Given the description of an element on the screen output the (x, y) to click on. 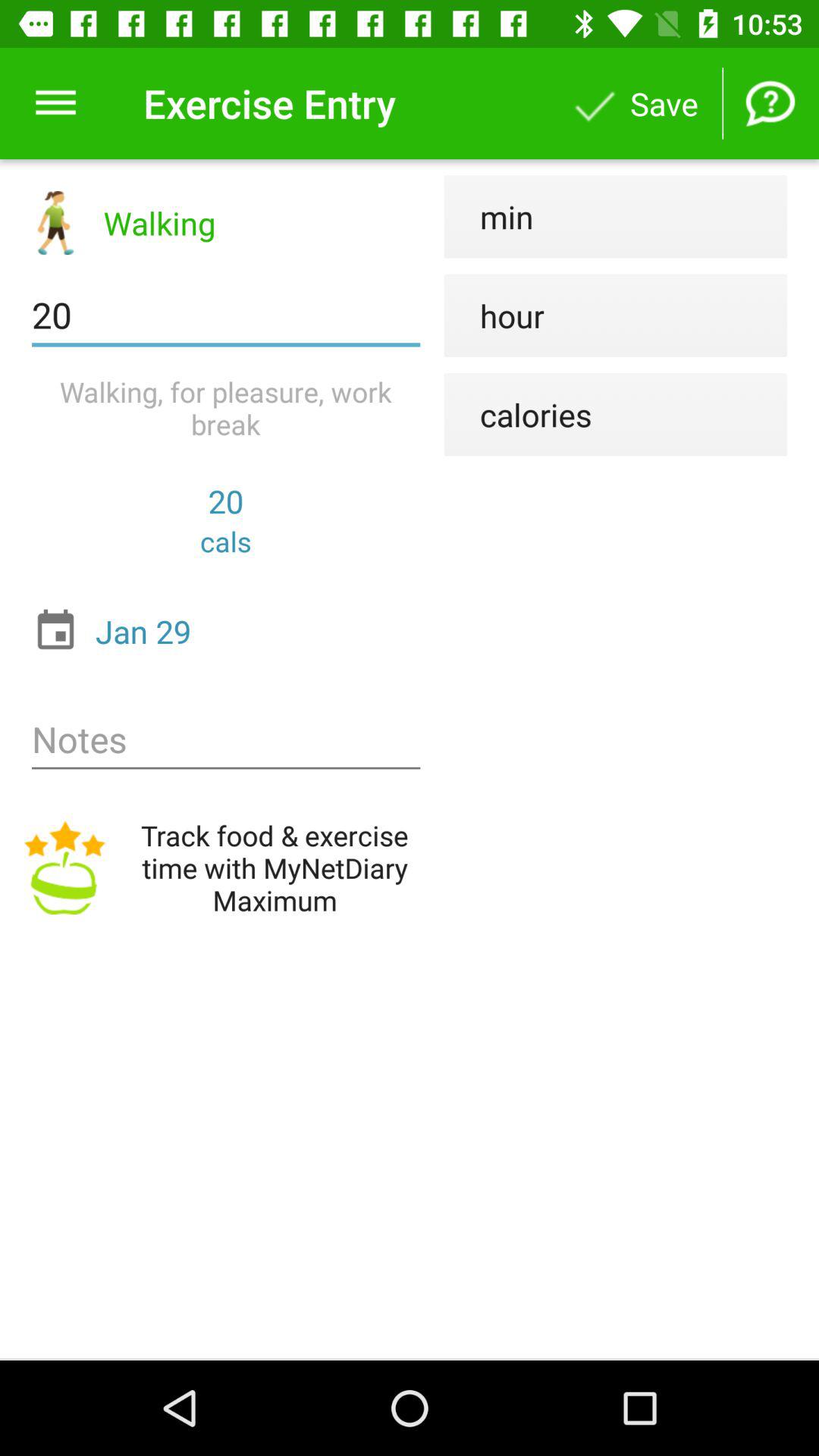
notes (225, 739)
